Given the description of an element on the screen output the (x, y) to click on. 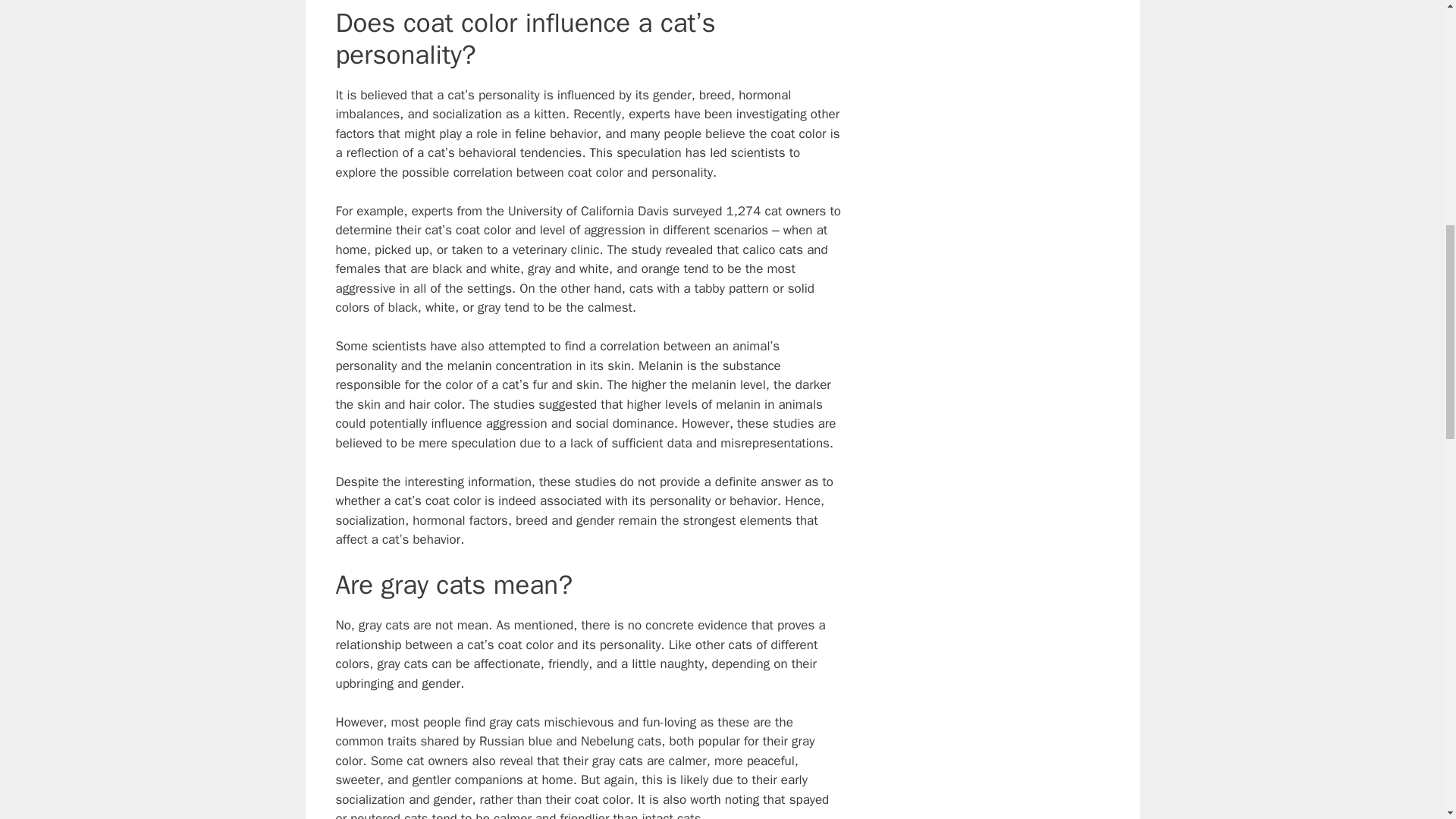
Scroll back to top (1406, 720)
